Given the description of an element on the screen output the (x, y) to click on. 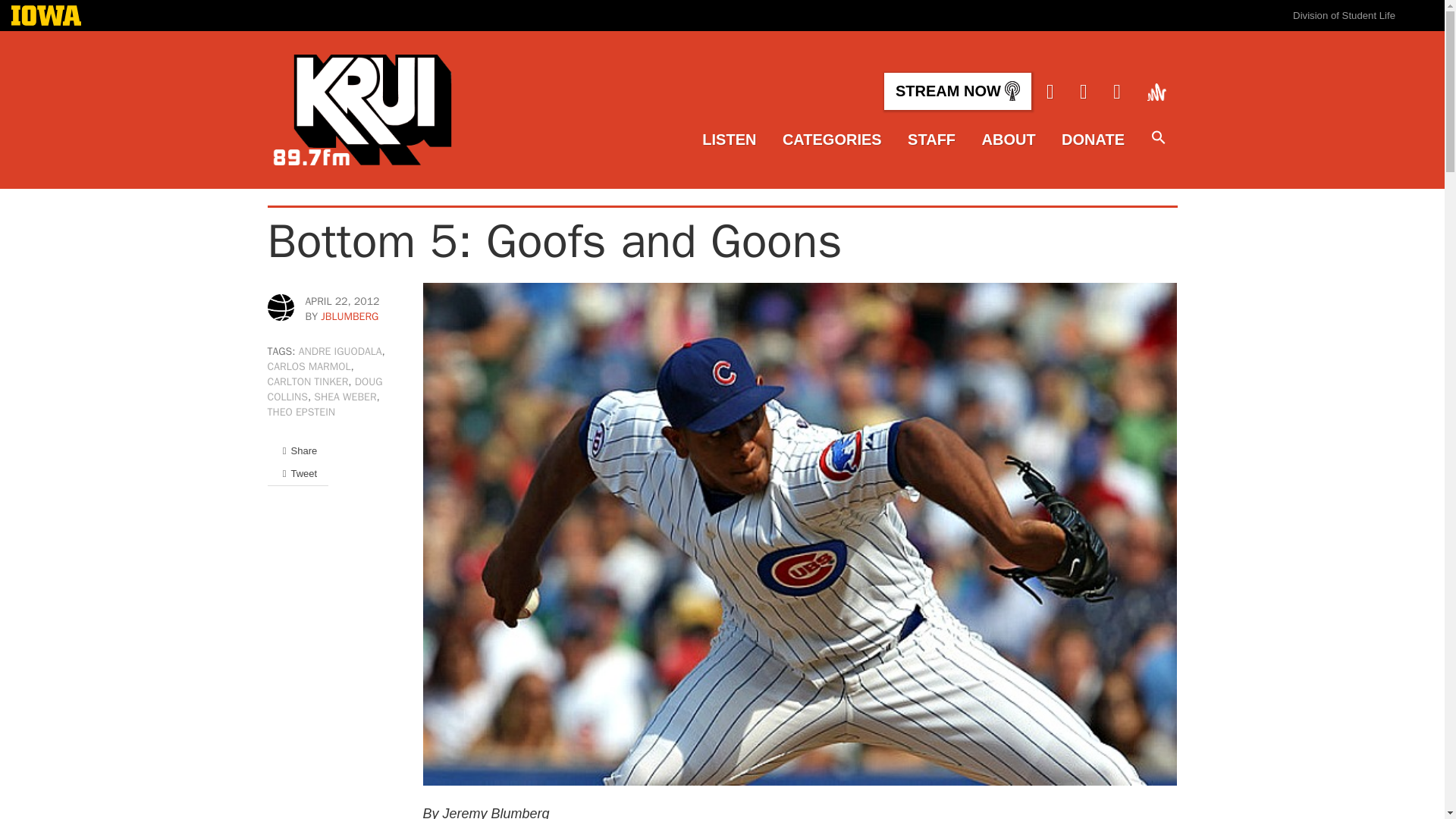
ABOUT (1008, 139)
LISTEN (728, 139)
STREAM NOW (956, 90)
The University of Iowa (46, 16)
Division of Student Life (1343, 15)
Share on Facebook (296, 450)
CATEGORIES (832, 139)
Share on Twitter (296, 473)
STAFF (931, 139)
